Given the description of an element on the screen output the (x, y) to click on. 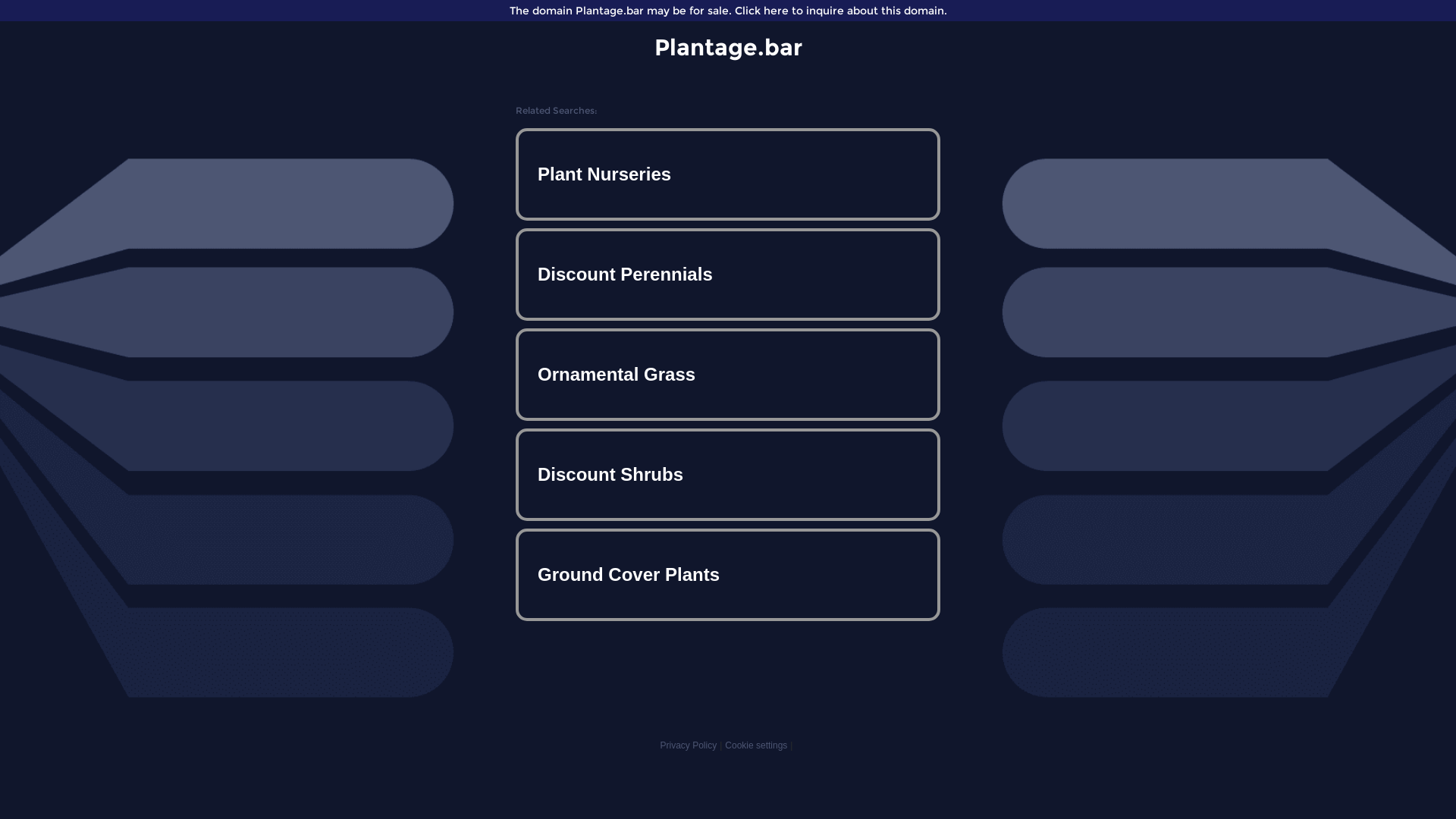
Ornamental Grass Element type: text (727, 374)
Ground Cover Plants Element type: text (727, 574)
Plantage.bar Element type: text (727, 47)
Cookie settings Element type: text (755, 745)
Discount Shrubs Element type: text (727, 474)
Privacy Policy Element type: text (687, 745)
Discount Perennials Element type: text (727, 274)
Plant Nurseries Element type: text (727, 174)
